Given the description of an element on the screen output the (x, y) to click on. 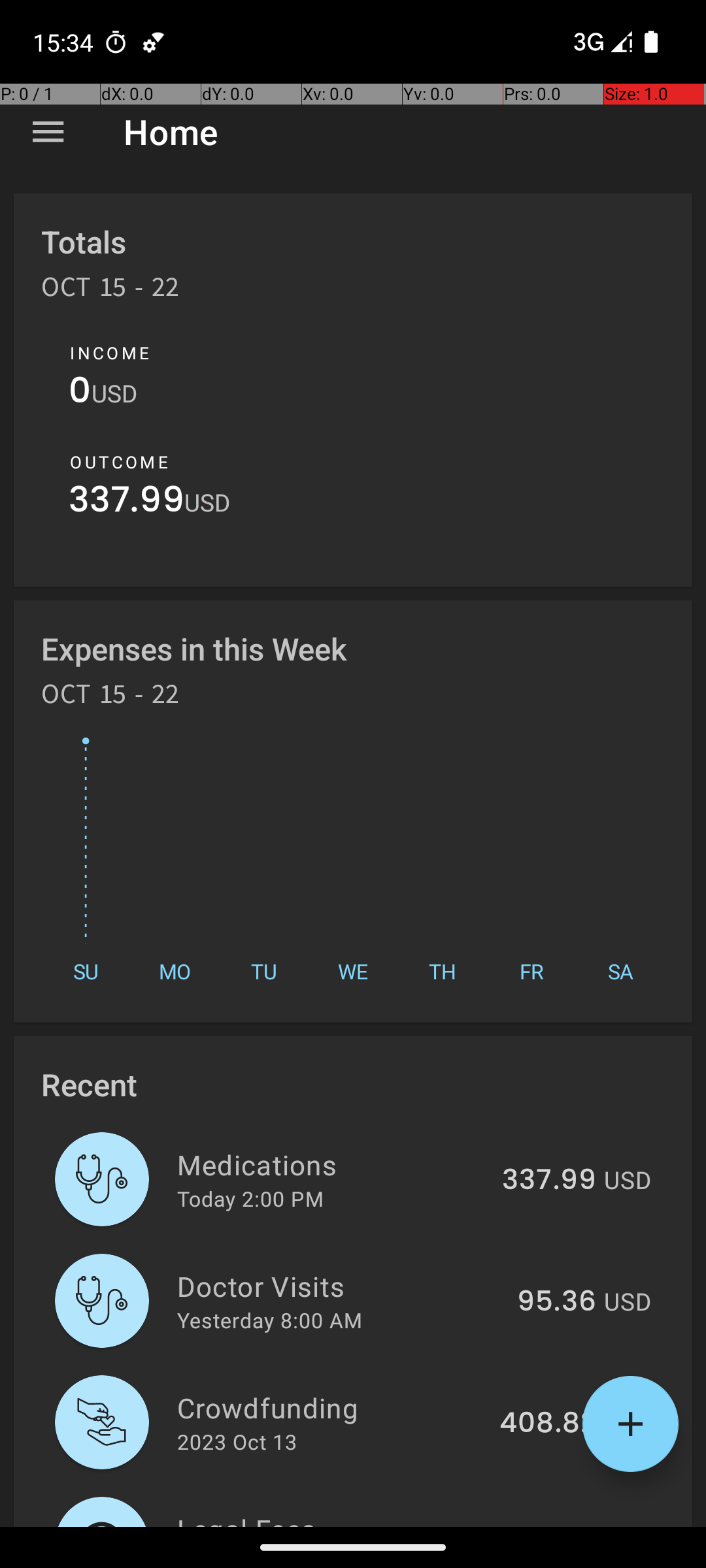
337.99 Element type: android.widget.TextView (126, 502)
Medications Element type: android.widget.TextView (331, 1164)
Yesterday 8:00 AM Element type: android.widget.TextView (269, 1320)
95.36 Element type: android.widget.TextView (556, 1301)
Crowdfunding Element type: android.widget.TextView (330, 1407)
408.82 Element type: android.widget.TextView (547, 1423)
Legal Fees Element type: android.widget.TextView (334, 1518)
190.25 Element type: android.widget.TextView (551, 1524)
